Given the description of an element on the screen output the (x, y) to click on. 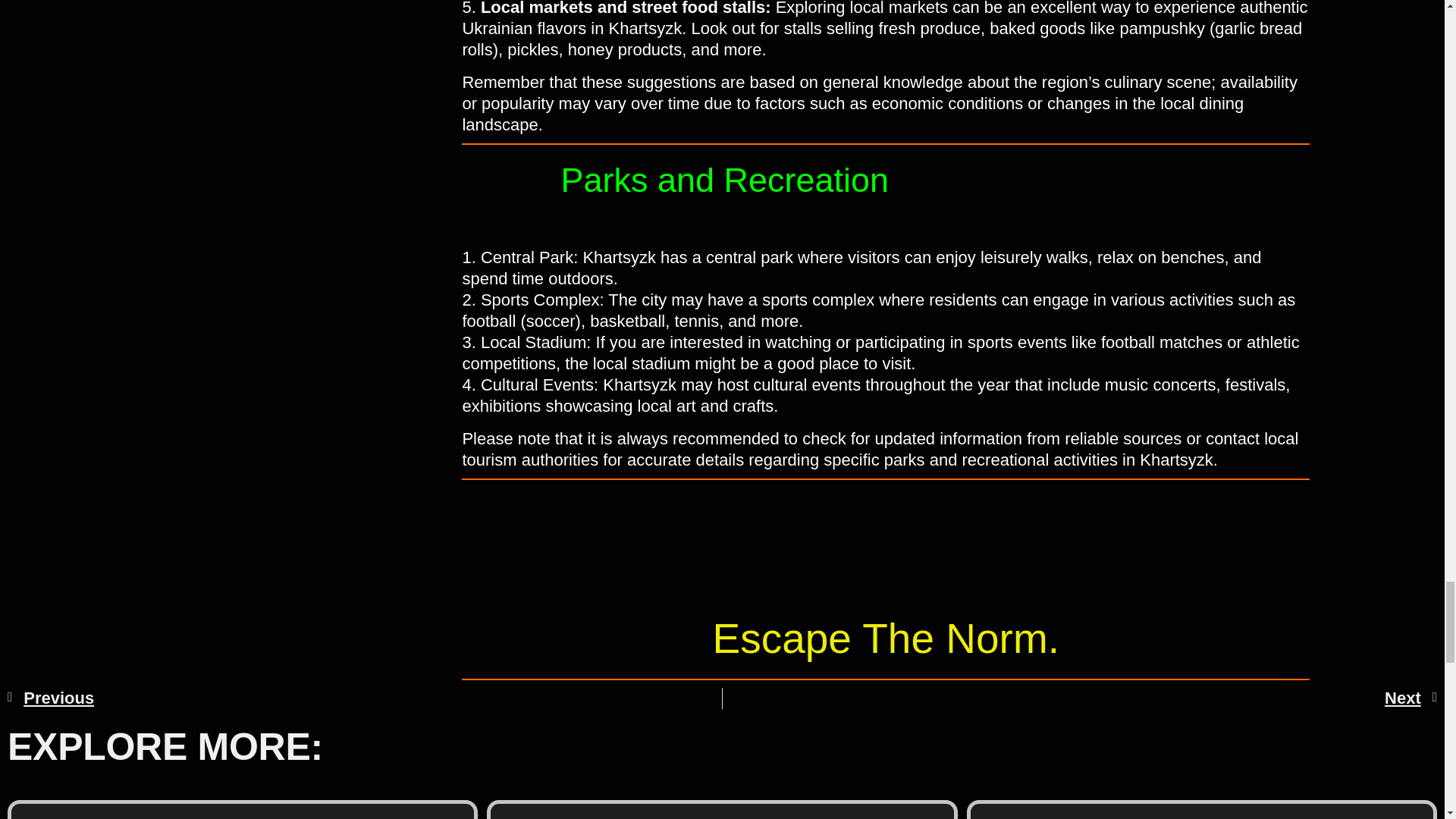
Next (1079, 698)
Previous (364, 698)
